Given the description of an element on the screen output the (x, y) to click on. 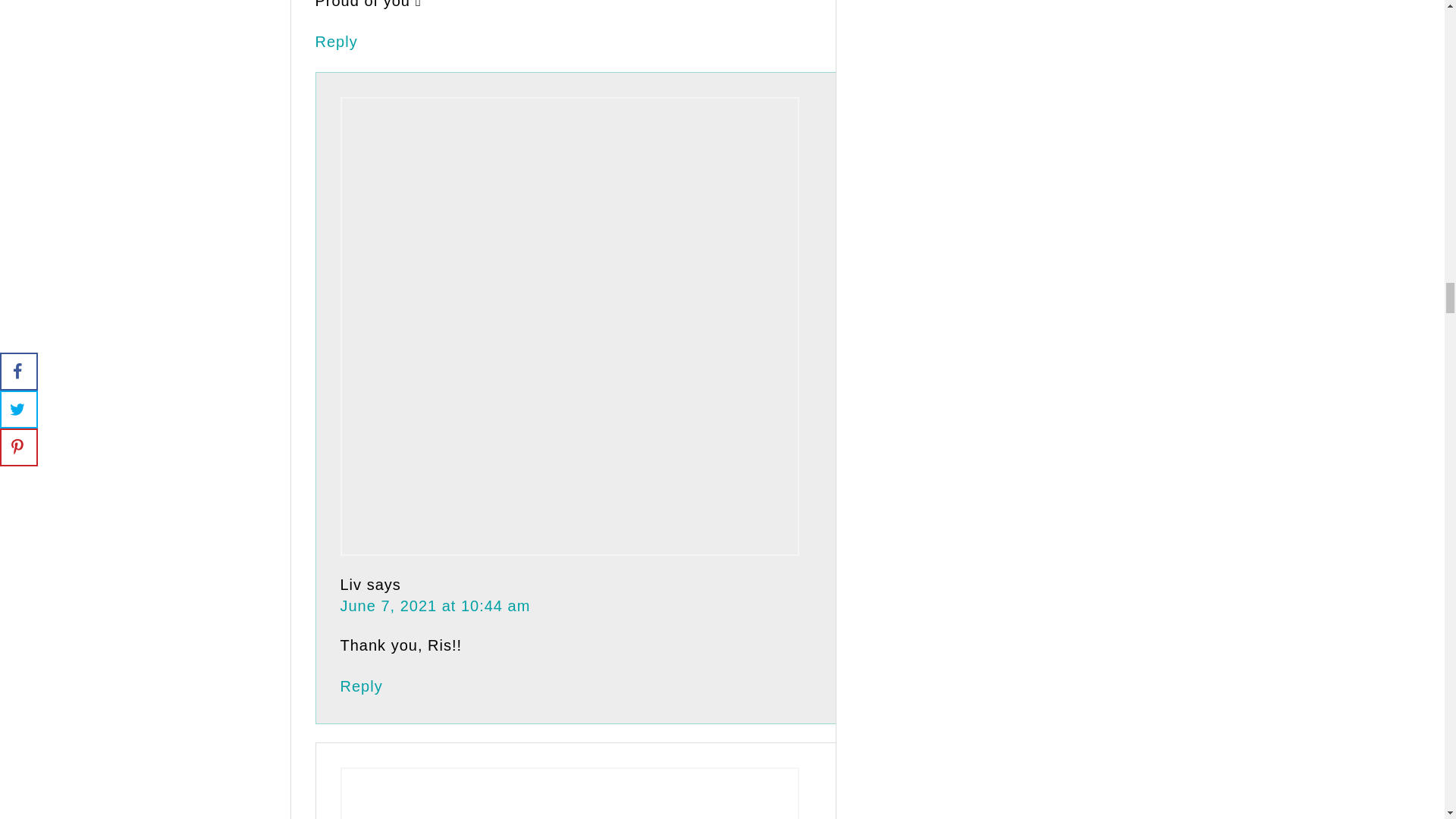
Reply (360, 686)
Reply (336, 41)
June 7, 2021 at 10:44 am (434, 605)
